Given the description of an element on the screen output the (x, y) to click on. 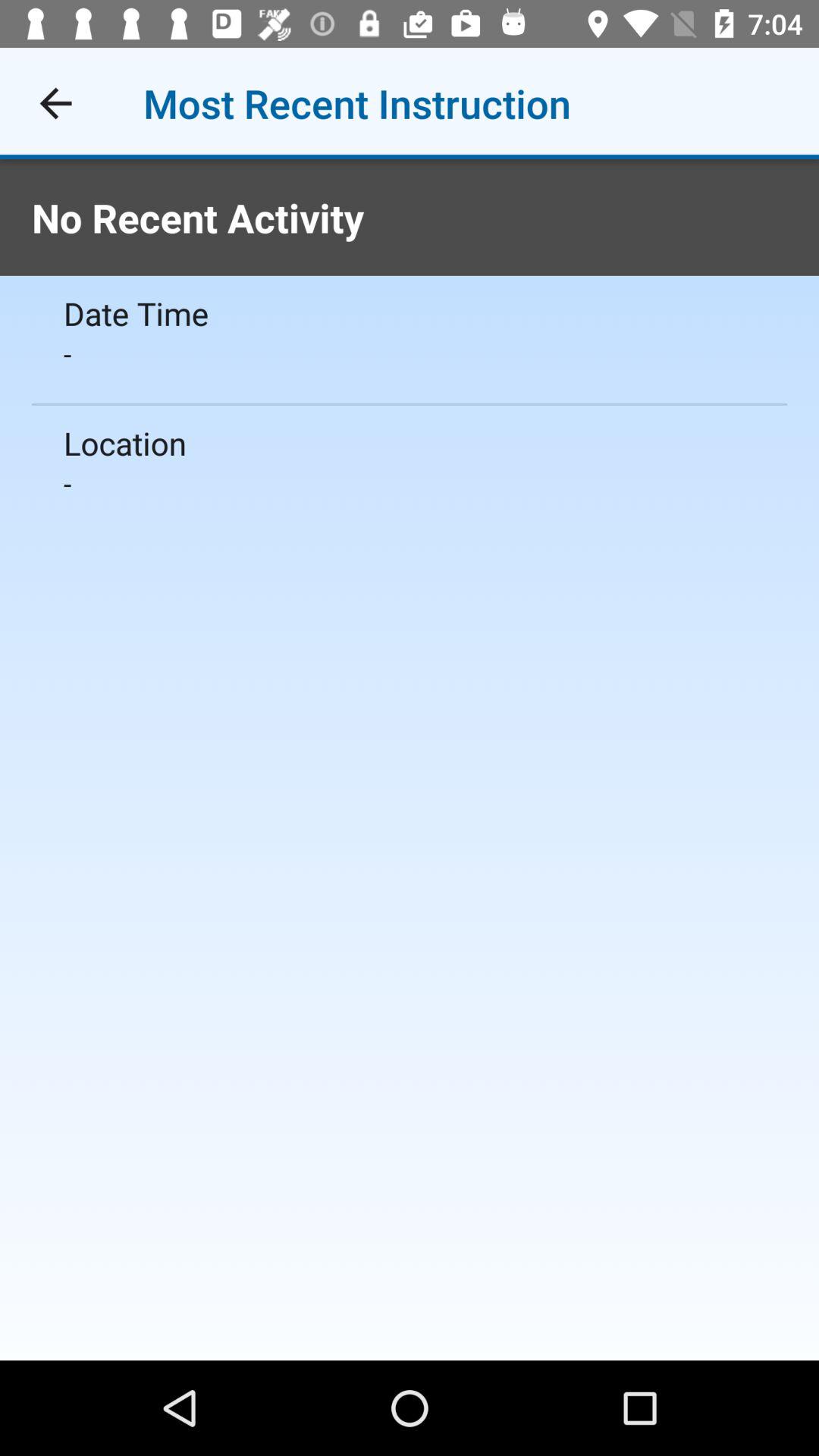
tap the icon above location icon (409, 353)
